Given the description of an element on the screen output the (x, y) to click on. 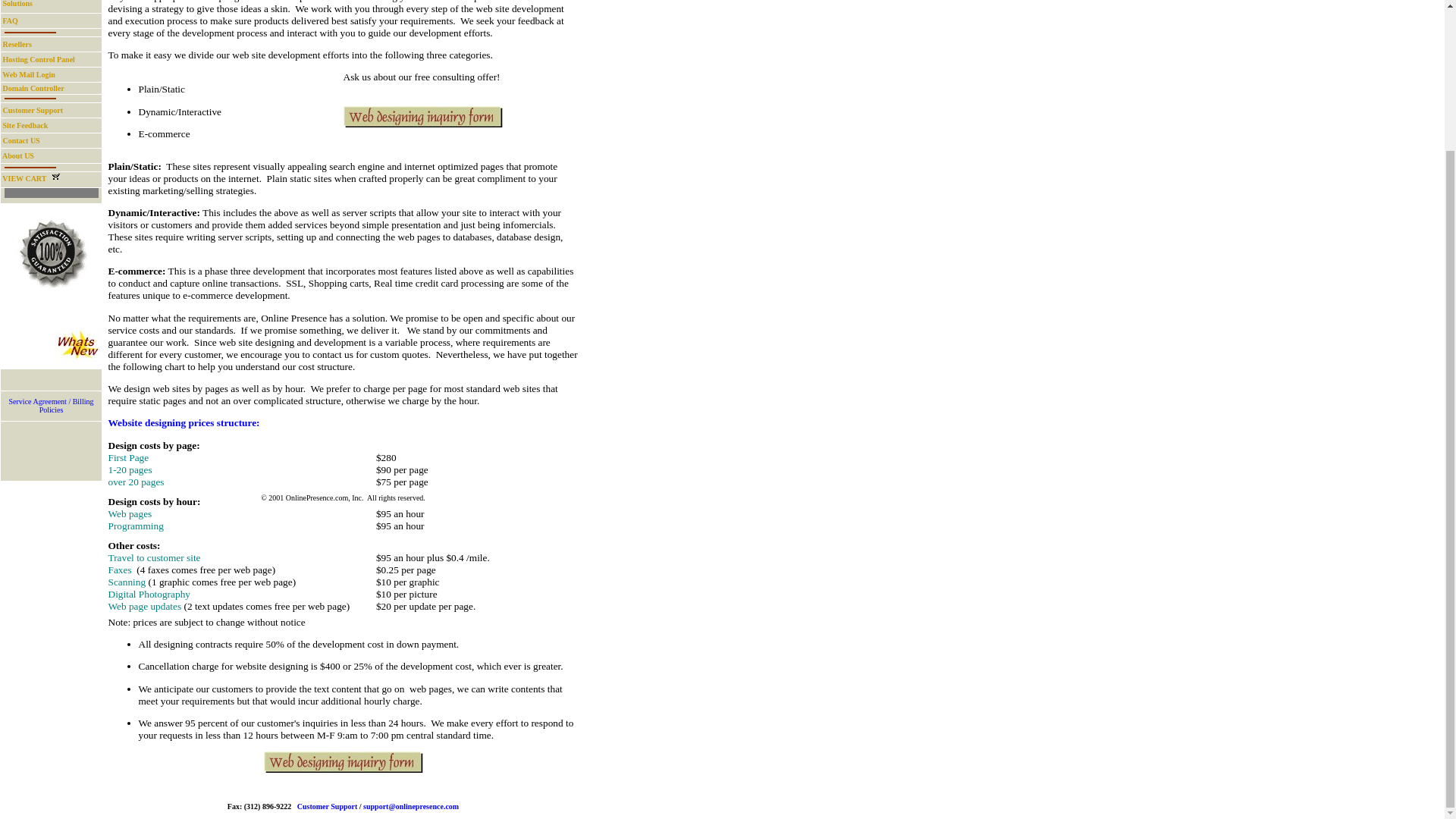
Customer Support (23, 3)
Domain Controller (327, 806)
Hosting Control Panel (33, 88)
Web Mail Login (38, 58)
Contact US (28, 74)
About US (21, 140)
Resellers (17, 155)
VIEW CART (17, 44)
Customer Support (32, 178)
Site Feedback (33, 110)
FAQ (25, 125)
